Given the description of an element on the screen output the (x, y) to click on. 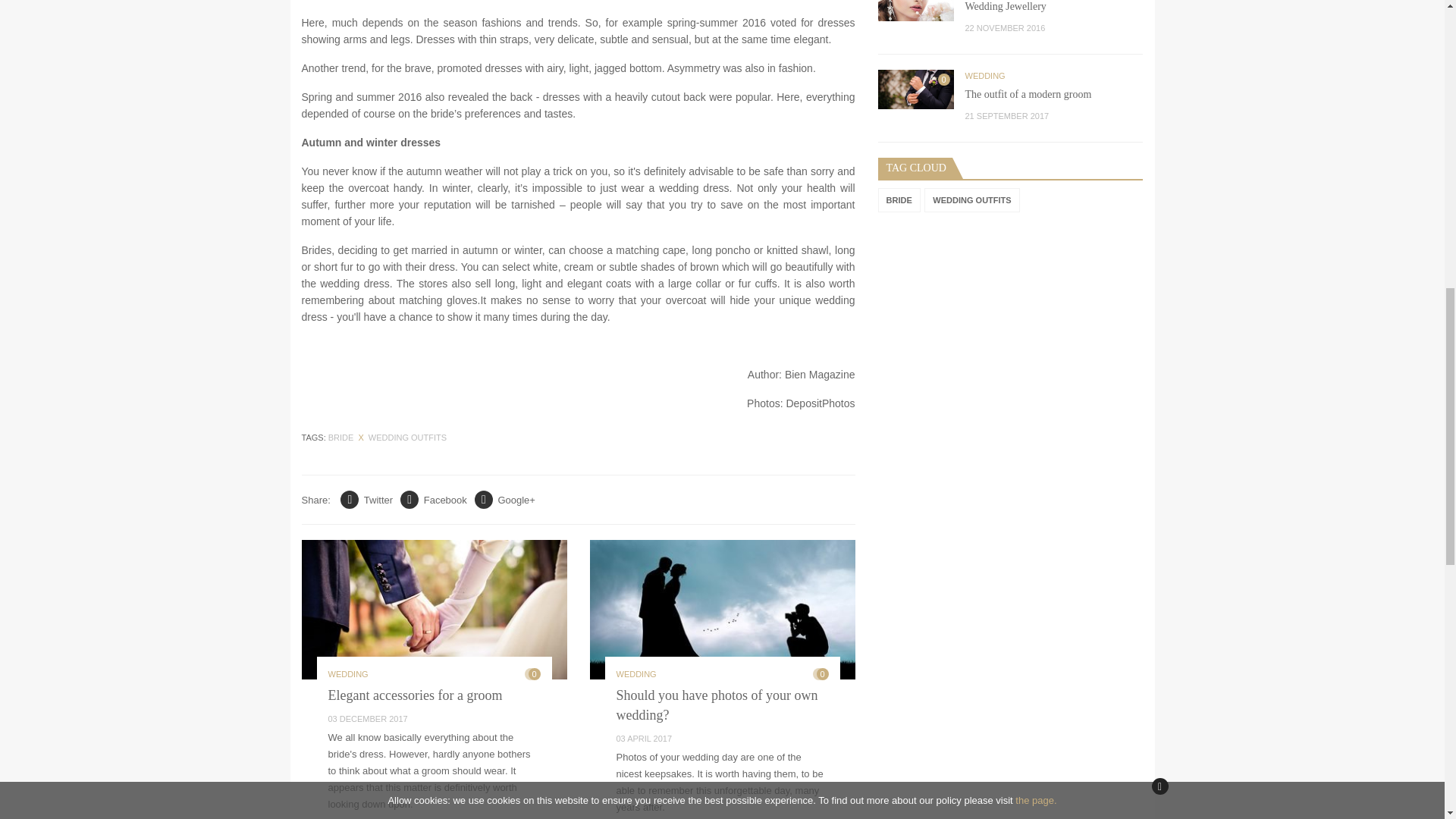
WEDDING (635, 673)
Twitter (366, 499)
WEDDING (347, 673)
Facebook (433, 499)
Should you have photos of your own wedding? (715, 704)
BRIDE (341, 437)
Elegant accessories for a groom (414, 694)
